Given the description of an element on the screen output the (x, y) to click on. 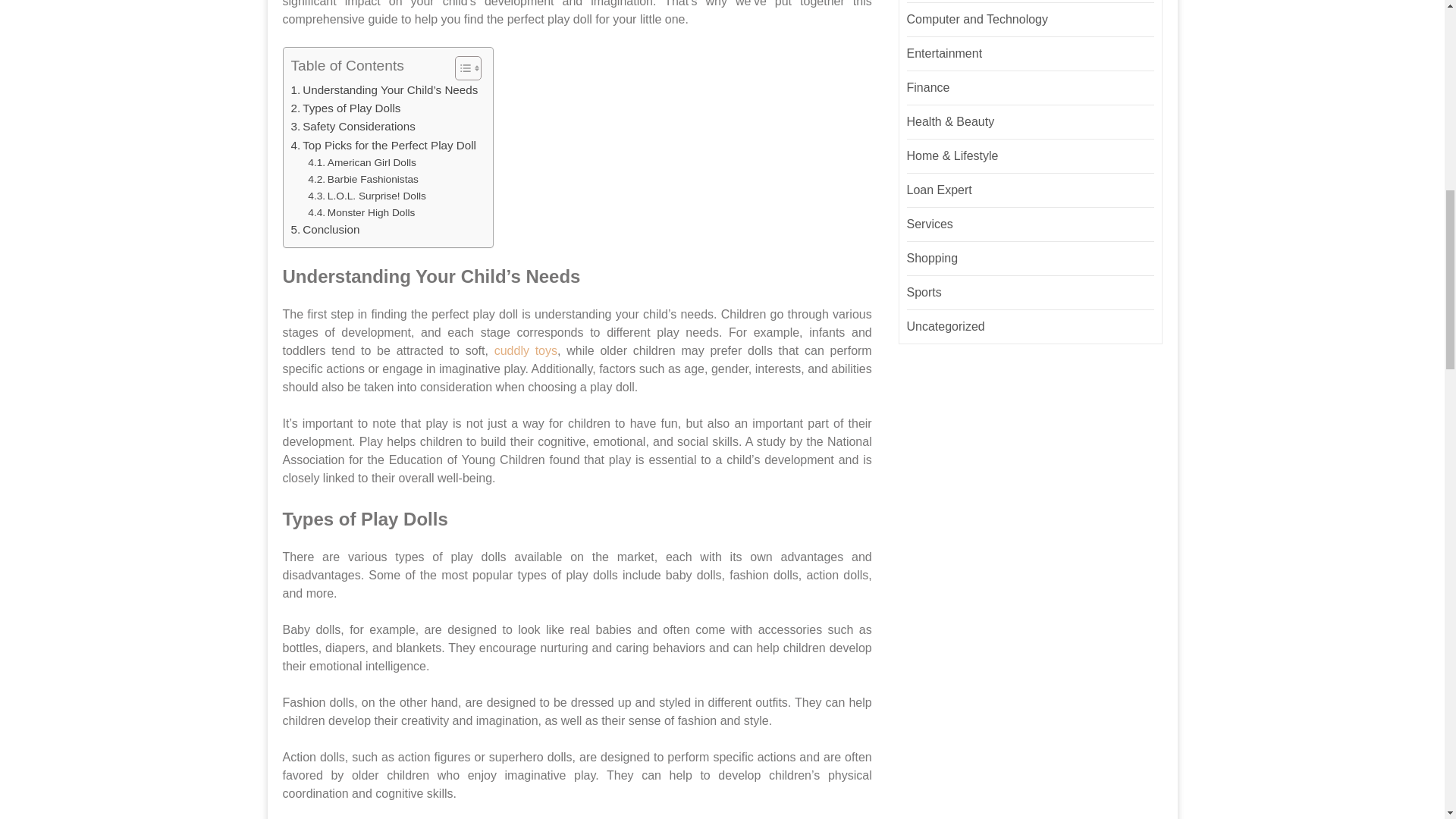
Top Picks for the Perfect Play Doll (383, 145)
Conclusion (325, 229)
American Girl Dolls (361, 162)
Safety Considerations (352, 126)
Types of Play Dolls (346, 108)
Barbie Fashionistas (363, 179)
Finance (928, 87)
Computer and Technology (977, 19)
Monster High Dolls (360, 212)
Barbie Fashionistas (363, 179)
American Girl Dolls (361, 162)
Types of Play Dolls (346, 108)
Top Picks for the Perfect Play Doll (383, 145)
Entertainment (944, 52)
L.O.L. Surprise! Dolls (366, 196)
